Given the description of an element on the screen output the (x, y) to click on. 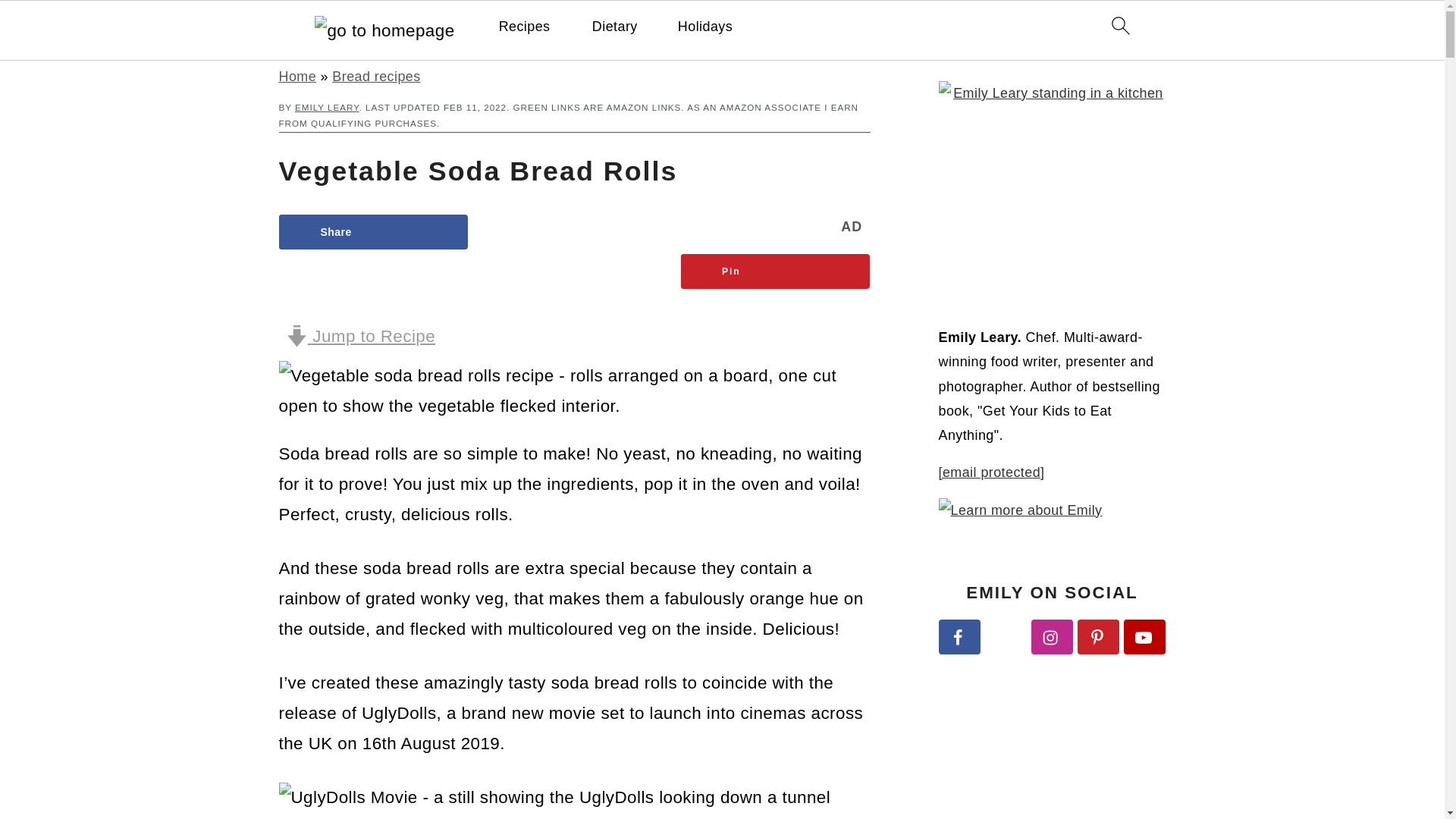
Home (298, 76)
Pin (775, 271)
Follow on Pinterest (1098, 636)
Jump to Recipe (360, 336)
Share on X (574, 231)
Tweet (574, 231)
Recipes (524, 27)
Follow on Facebook (959, 636)
Follow on Instagram (1051, 636)
Save to Pinterest (775, 271)
